Given the description of an element on the screen output the (x, y) to click on. 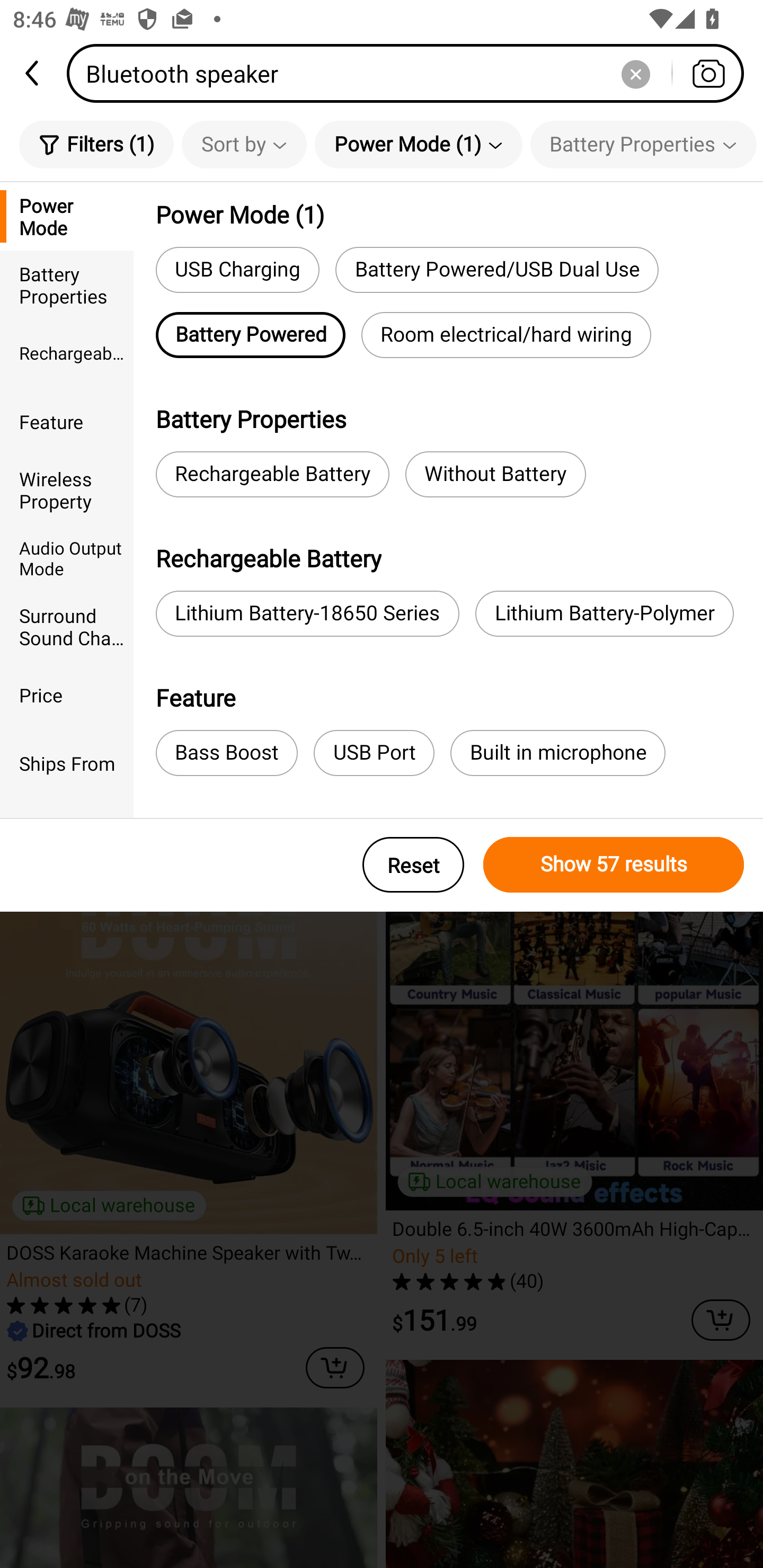
back (33, 72)
Bluetooth speaker (411, 73)
Delete search history (635, 73)
Search by photo (708, 73)
Filters (1) (96, 143)
Sort by (243, 143)
Power Mode (1) (418, 143)
Battery Properties (643, 143)
Power Mode (66, 215)
USB Charging (237, 269)
Battery Powered/USB Dual Use (496, 269)
Battery Properties (66, 284)
Battery Powered (250, 334)
Room electrical/hard wiring (505, 334)
Rechargeable Battery (66, 352)
Feature (66, 421)
Rechargeable Battery (272, 474)
Without Battery (495, 474)
Wireless Property (66, 489)
Audio Output Mode (66, 557)
Lithium Battery-18650 Series (307, 613)
Lithium Battery-Polymer (604, 613)
Surround Sound Channel Configuration (66, 626)
Price (66, 694)
Ships From (66, 762)
Bass Boost (226, 753)
USB Port (373, 753)
Built in microphone (557, 753)
Reset (412, 864)
Show 57 results (612, 864)
